Given the description of an element on the screen output the (x, y) to click on. 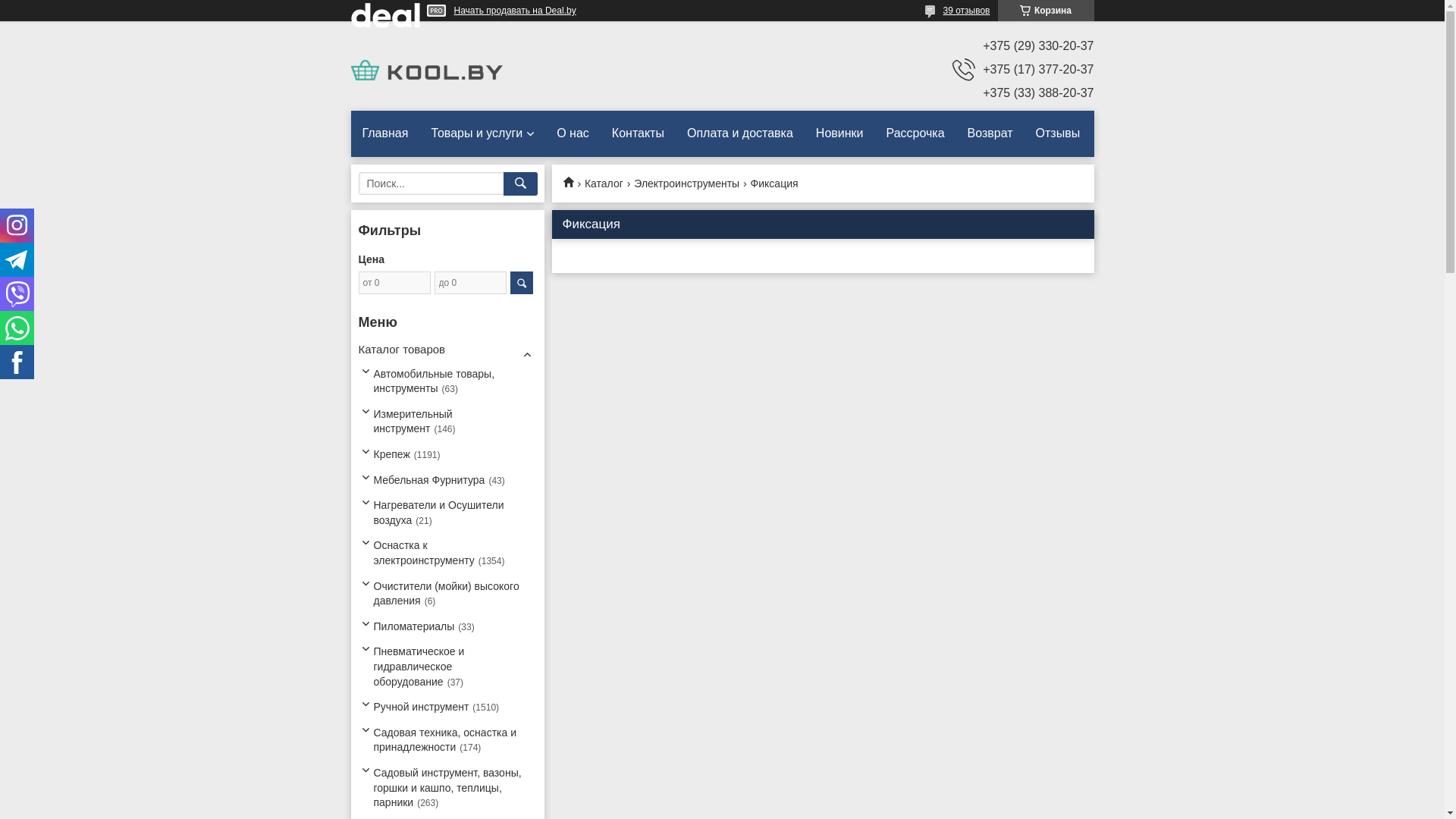
KOOL.BY Element type: hover (426, 69)
Kool.by Element type: hover (572, 181)
